Given the description of an element on the screen output the (x, y) to click on. 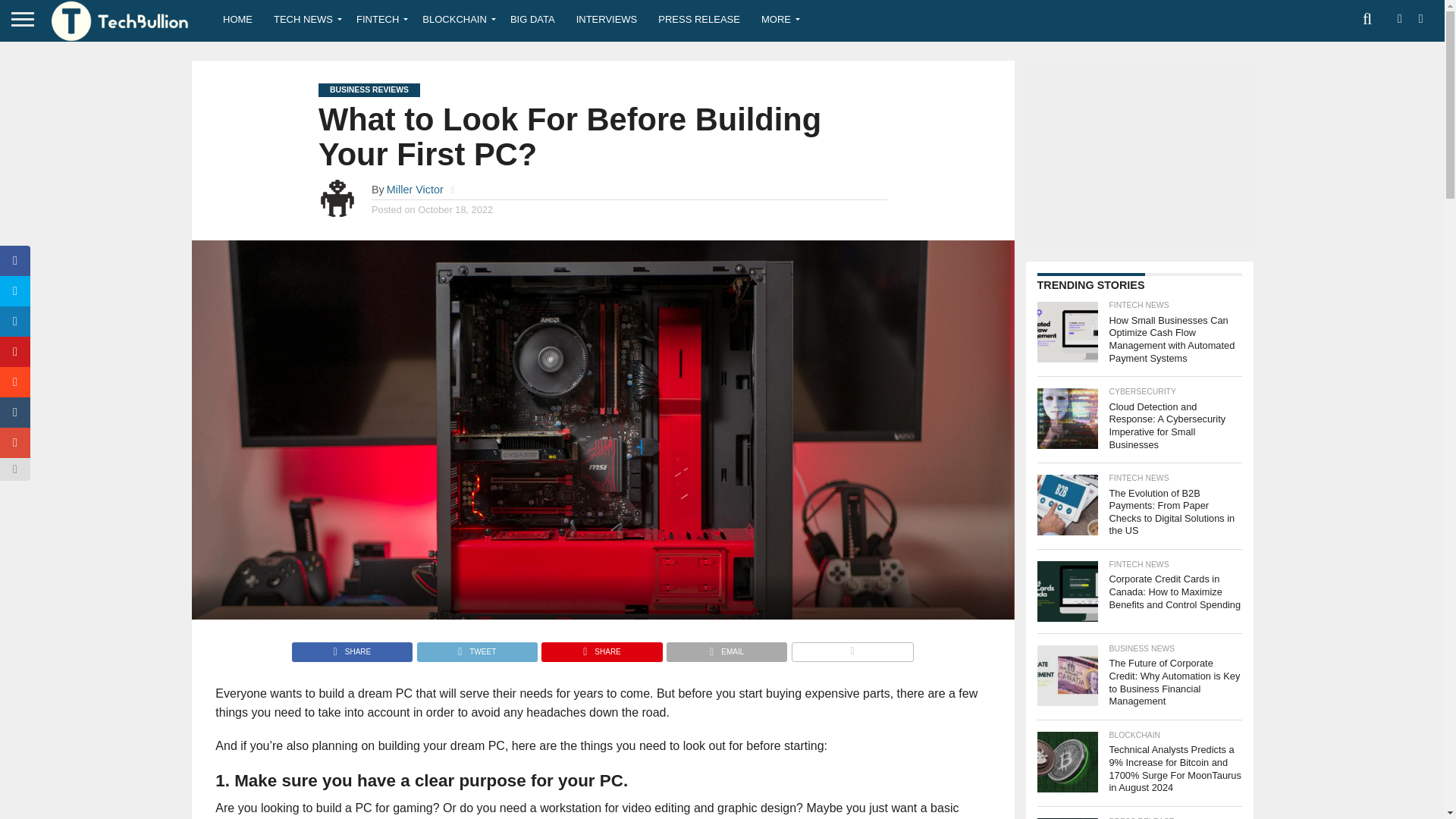
Posts by Miller Victor (415, 189)
Tweet This Post (476, 647)
Pin This Post (601, 647)
Share on Facebook (352, 647)
